Given the description of an element on the screen output the (x, y) to click on. 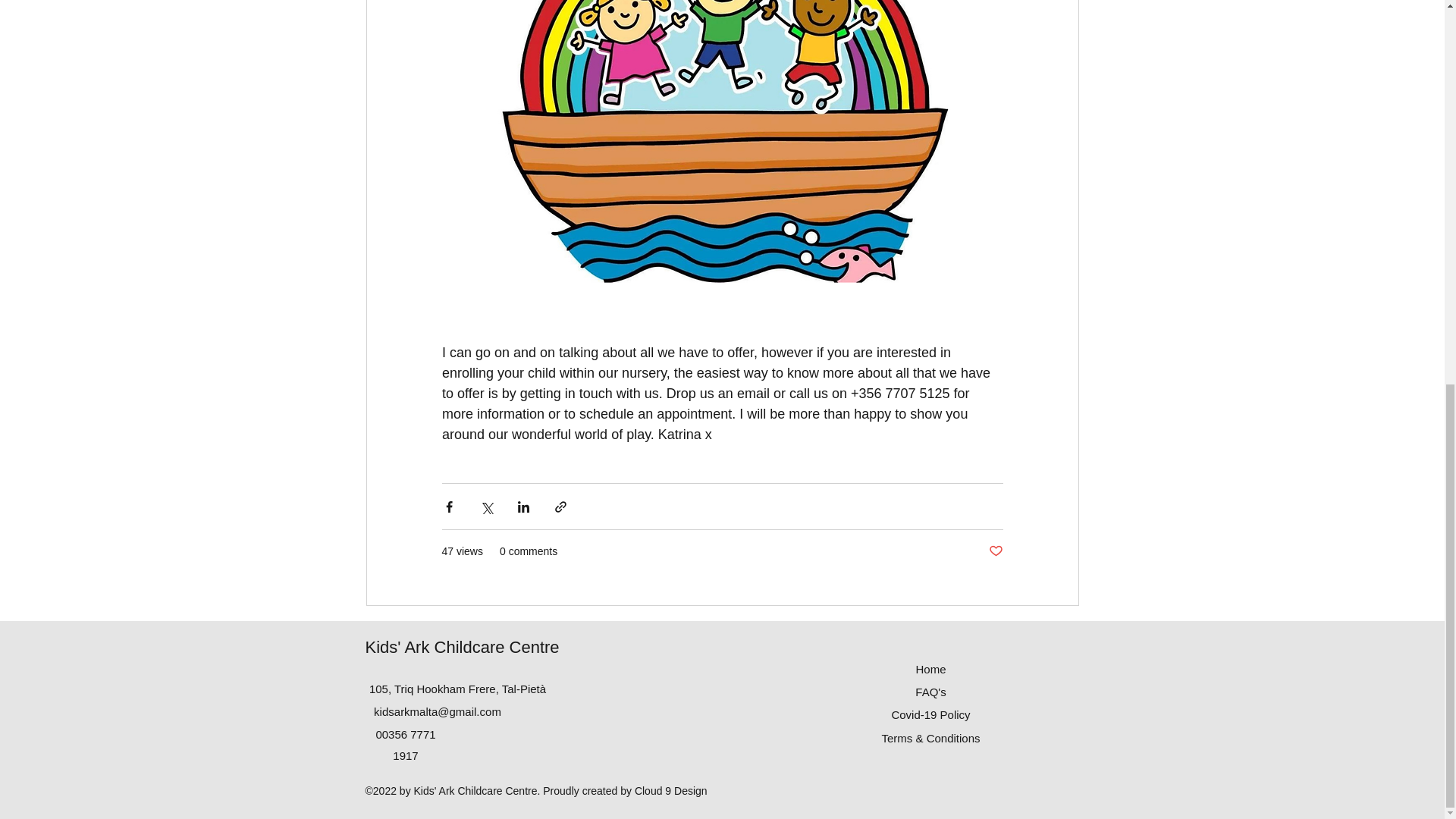
Kids' Ark Childcare Centre (462, 647)
Post not marked as liked (995, 551)
FAQ's (929, 691)
Home (929, 668)
Cloud 9 Design (670, 790)
